Given the description of an element on the screen output the (x, y) to click on. 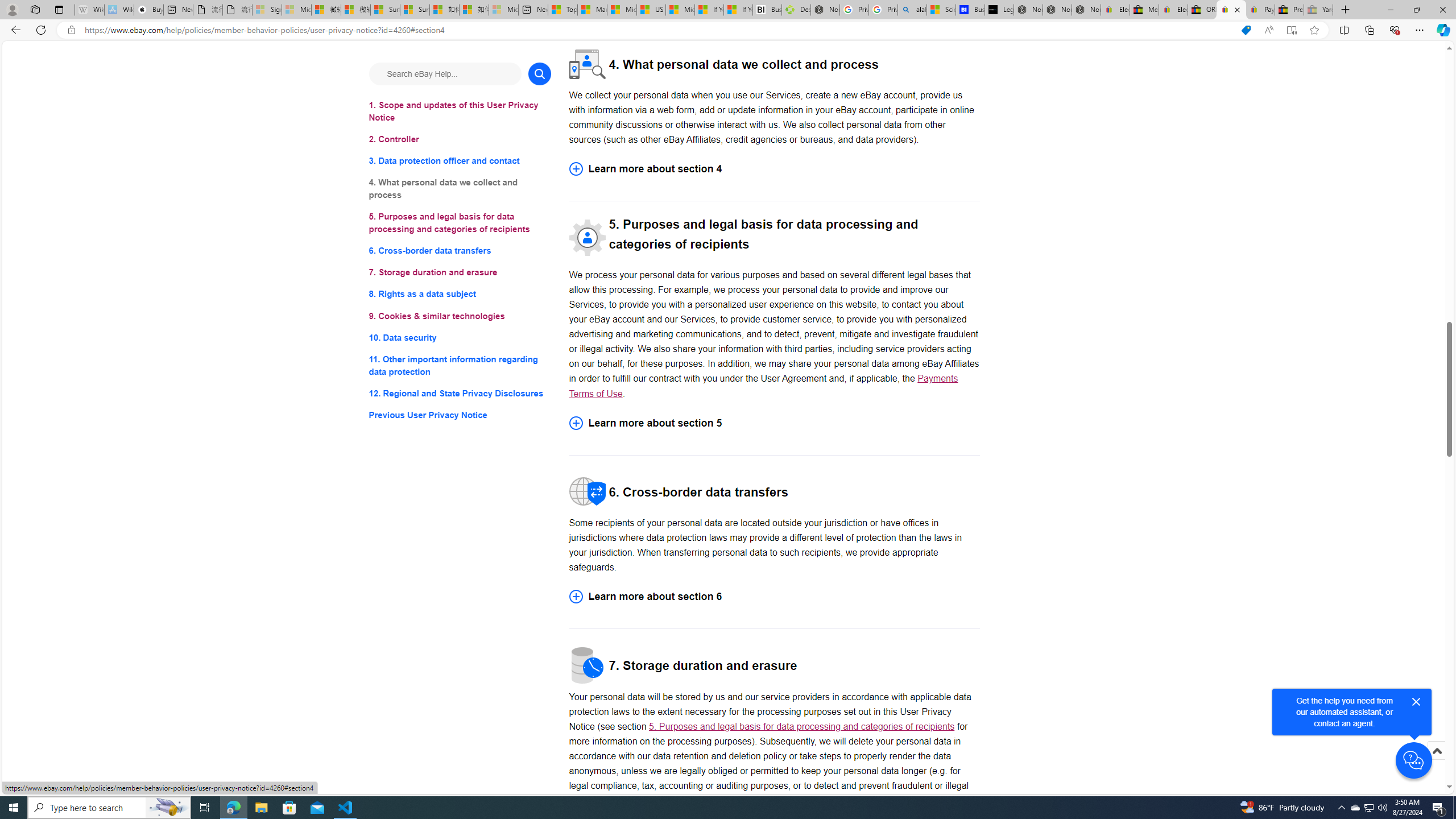
11. Other important information regarding data protection (459, 365)
Search eBay Help... (444, 73)
9. Cookies & similar technologies (459, 315)
Press Room - eBay Inc. (1288, 9)
Learn more about section 4 (774, 169)
8. Rights as a data subject (459, 293)
Microsoft account | Account Checkup - Sleeping (502, 9)
4. What personal data we collect and process (459, 189)
Previous User Privacy Notice (459, 414)
